Given the description of an element on the screen output the (x, y) to click on. 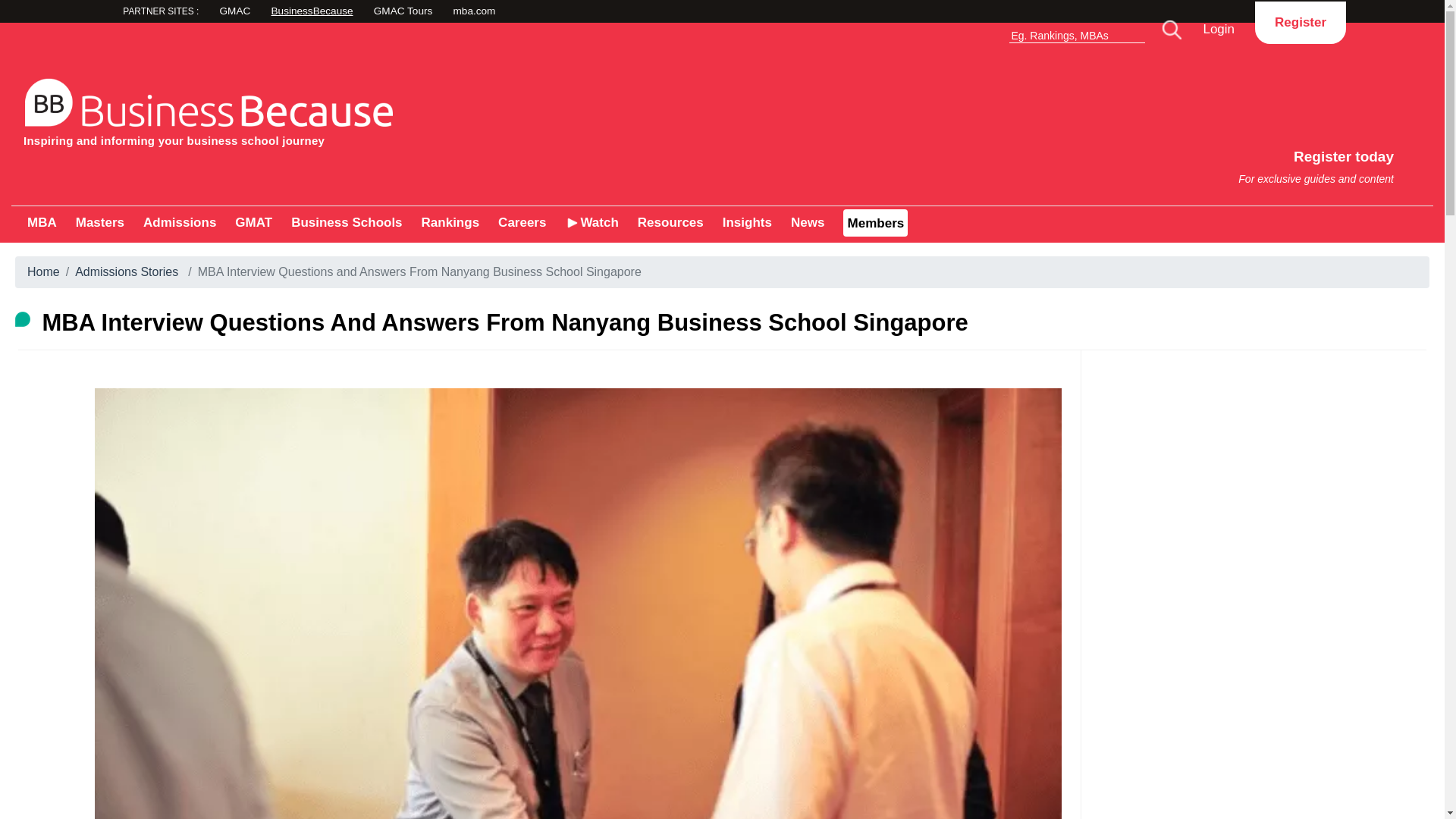
GMAT (253, 222)
Admissions (178, 222)
Register (1300, 22)
Business Schools (346, 222)
BusinessBecause (367, 12)
Masters (99, 222)
GMAC Tours (1089, 159)
GMAC (474, 12)
PARTNER SITES : (276, 12)
